Given the description of an element on the screen output the (x, y) to click on. 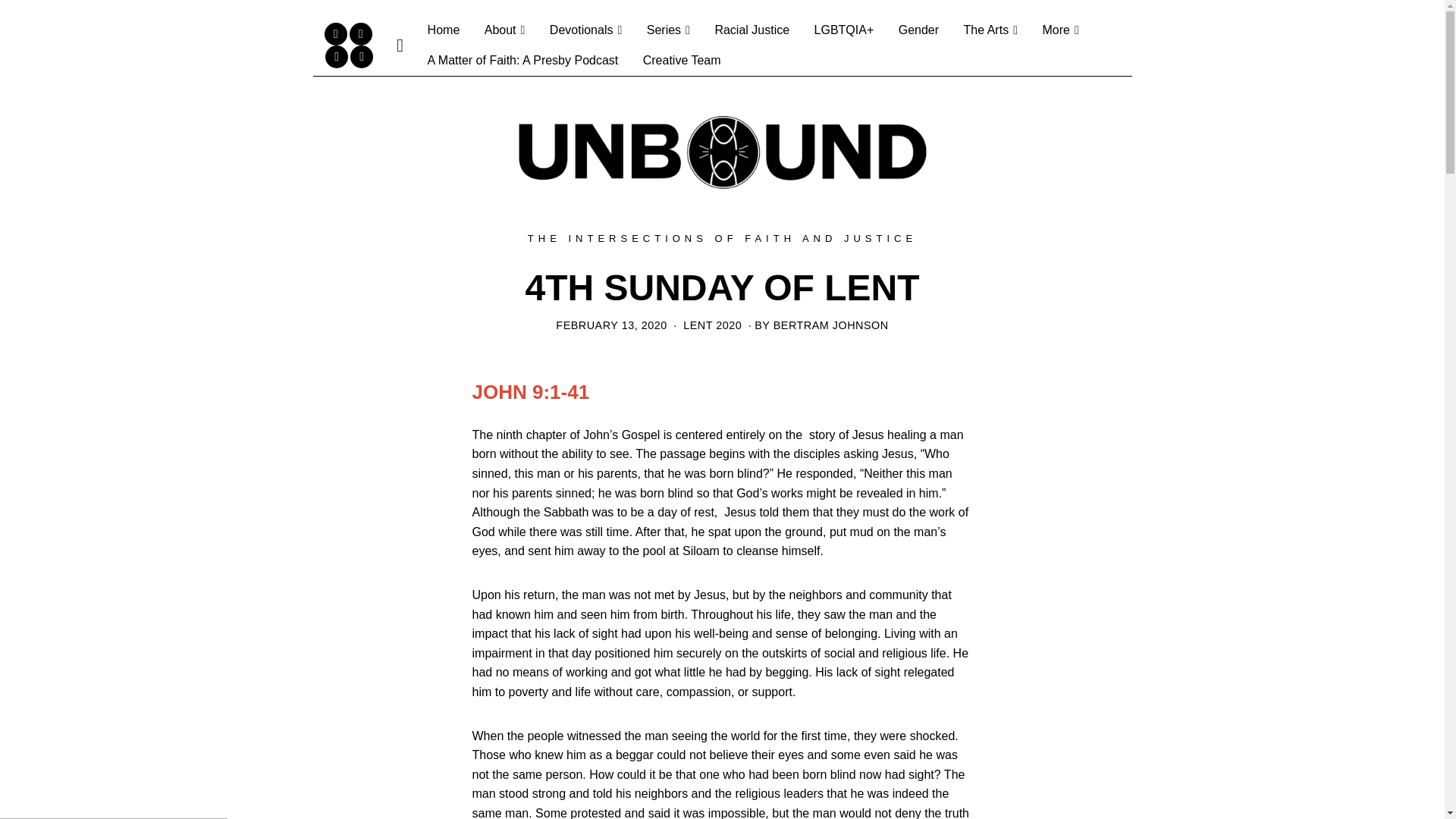
YouTube (361, 56)
Facebook (335, 33)
Series (668, 30)
The Arts (990, 30)
Racial Justice (751, 30)
About (504, 30)
Creative Team (681, 60)
Twitter (360, 33)
YouTube (361, 56)
Instagram (335, 56)
